Given the description of an element on the screen output the (x, y) to click on. 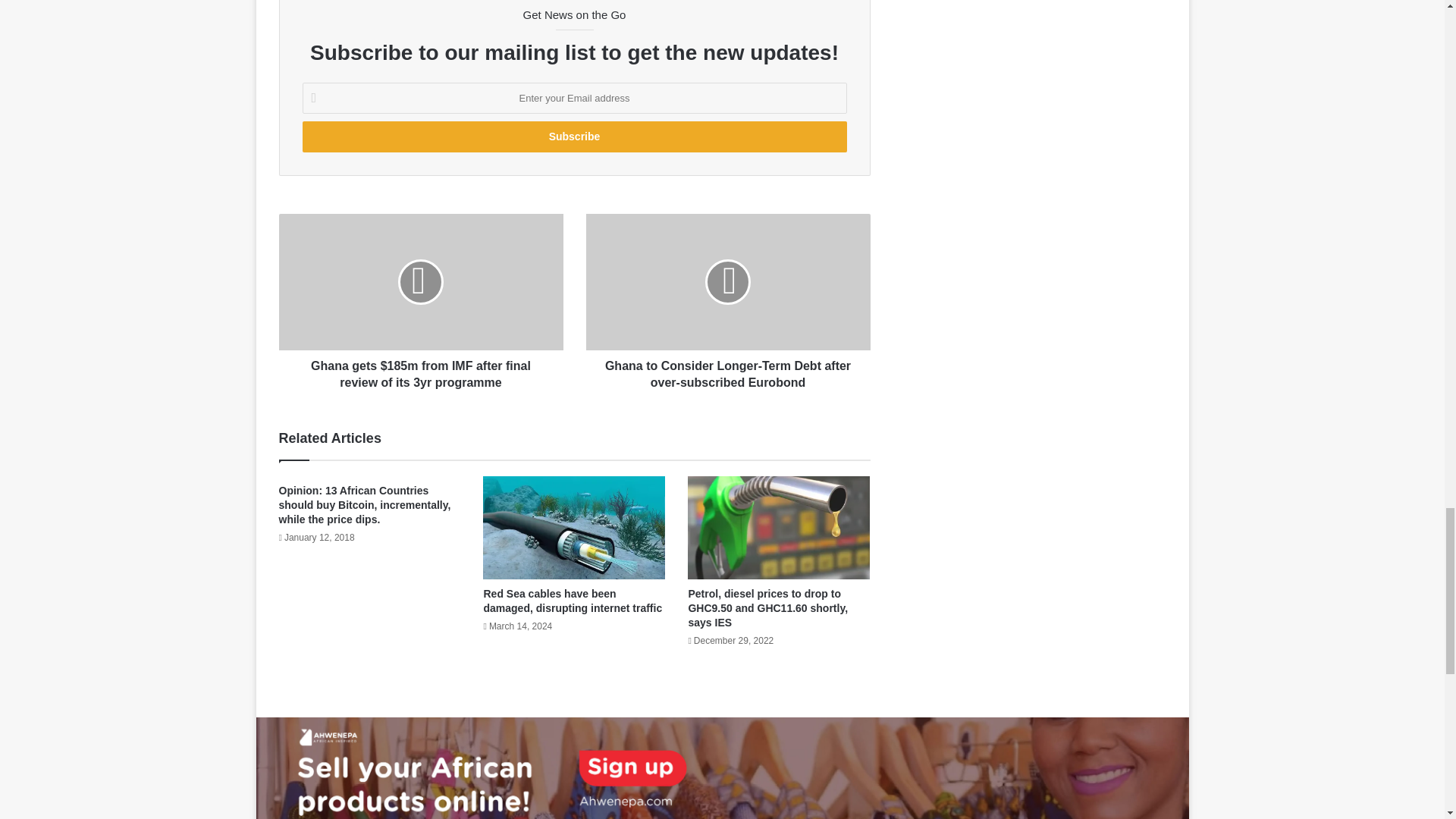
Subscribe (573, 136)
